Given the description of an element on the screen output the (x, y) to click on. 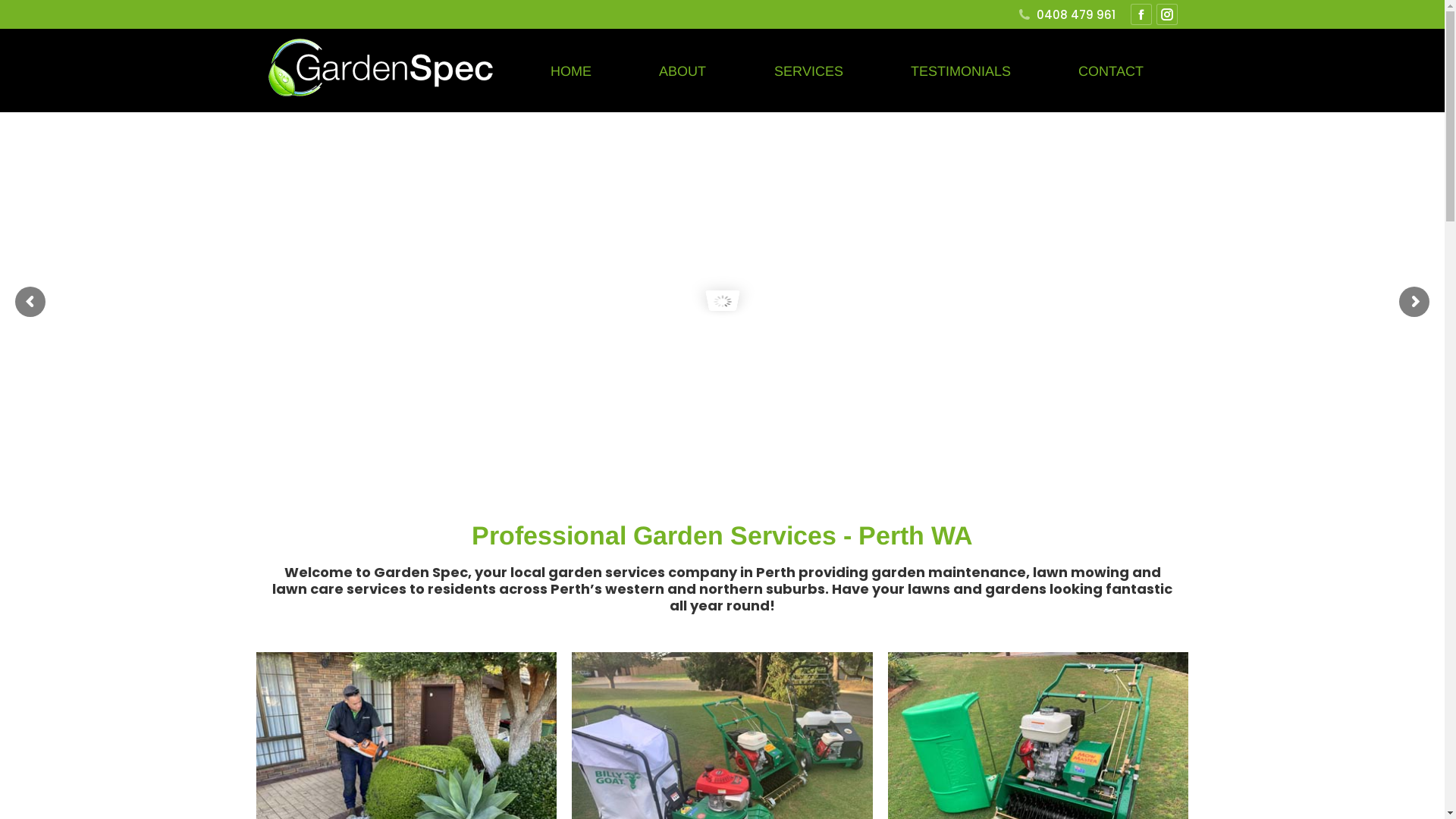
0408 479 961 Element type: text (1065, 13)
SERVICES Element type: text (807, 69)
Instagram page opens in new window Element type: text (1165, 14)
TESTIMONIALS Element type: text (960, 69)
ABOUT Element type: text (682, 69)
Facebook page opens in new window Element type: text (1140, 14)
CONTACT Element type: text (1110, 69)
HOME Element type: text (570, 69)
